Given the description of an element on the screen output the (x, y) to click on. 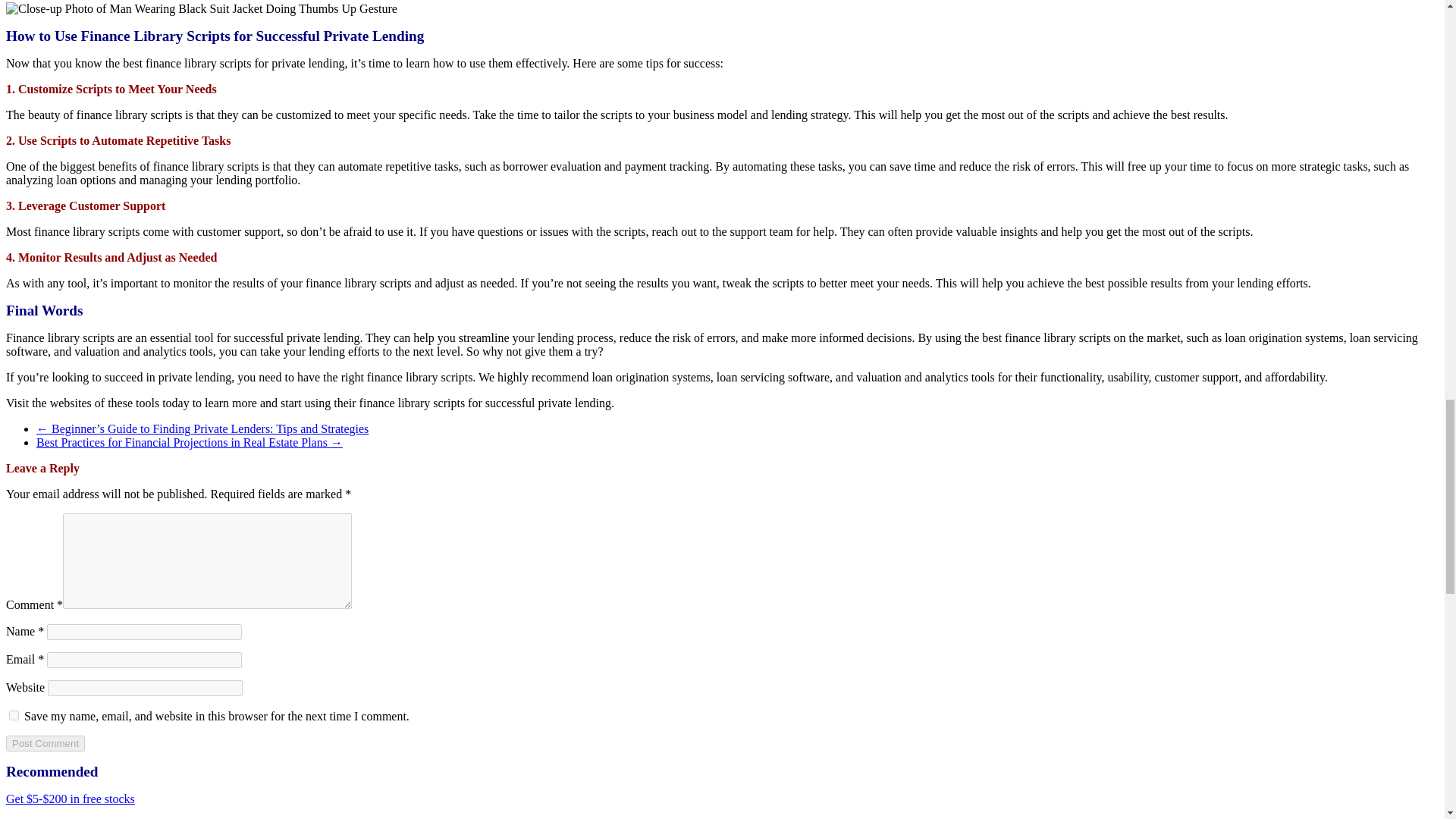
Post Comment (44, 743)
yes (13, 715)
